Given the description of an element on the screen output the (x, y) to click on. 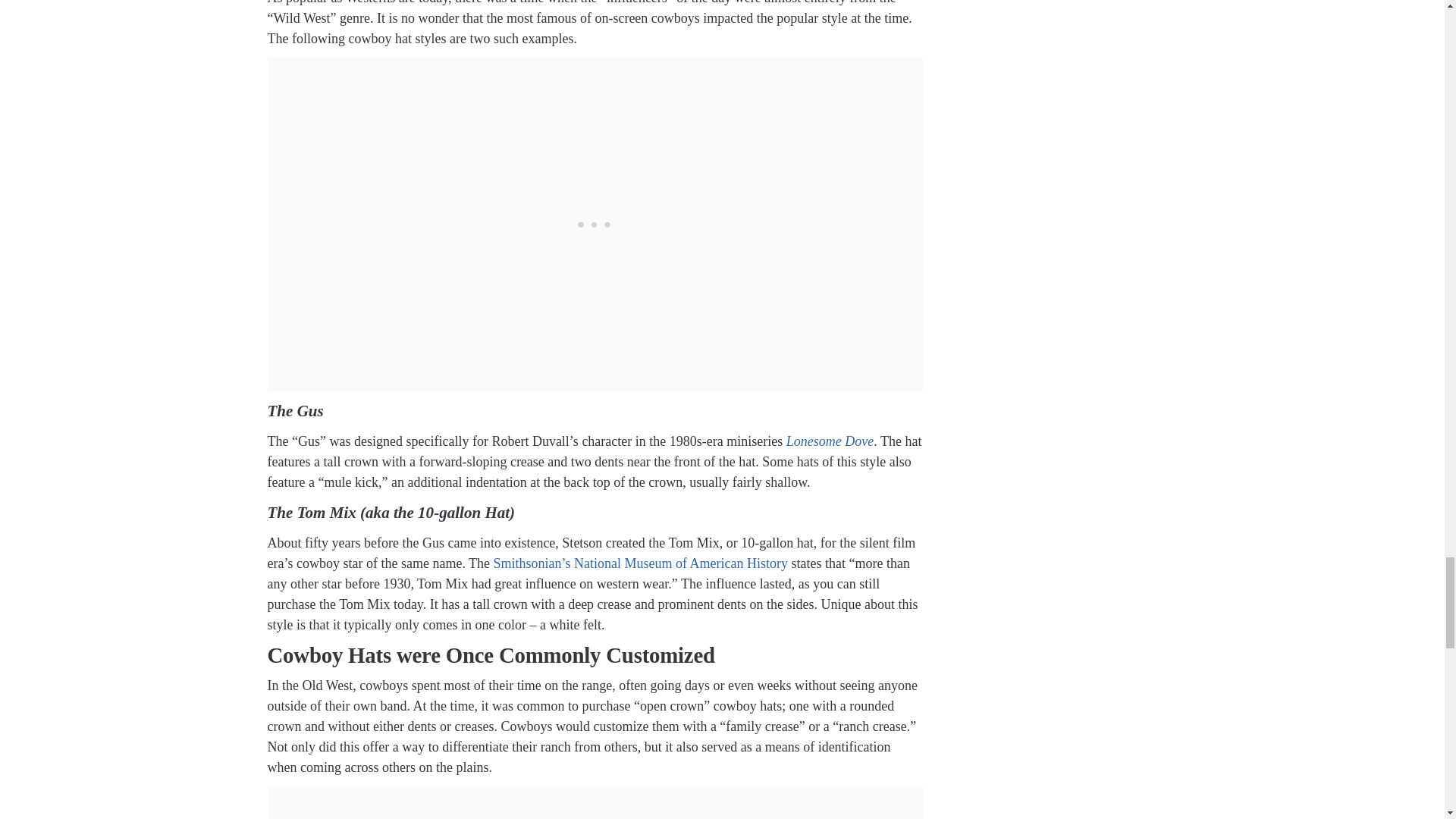
Lonesome Dove (829, 441)
